Given the description of an element on the screen output the (x, y) to click on. 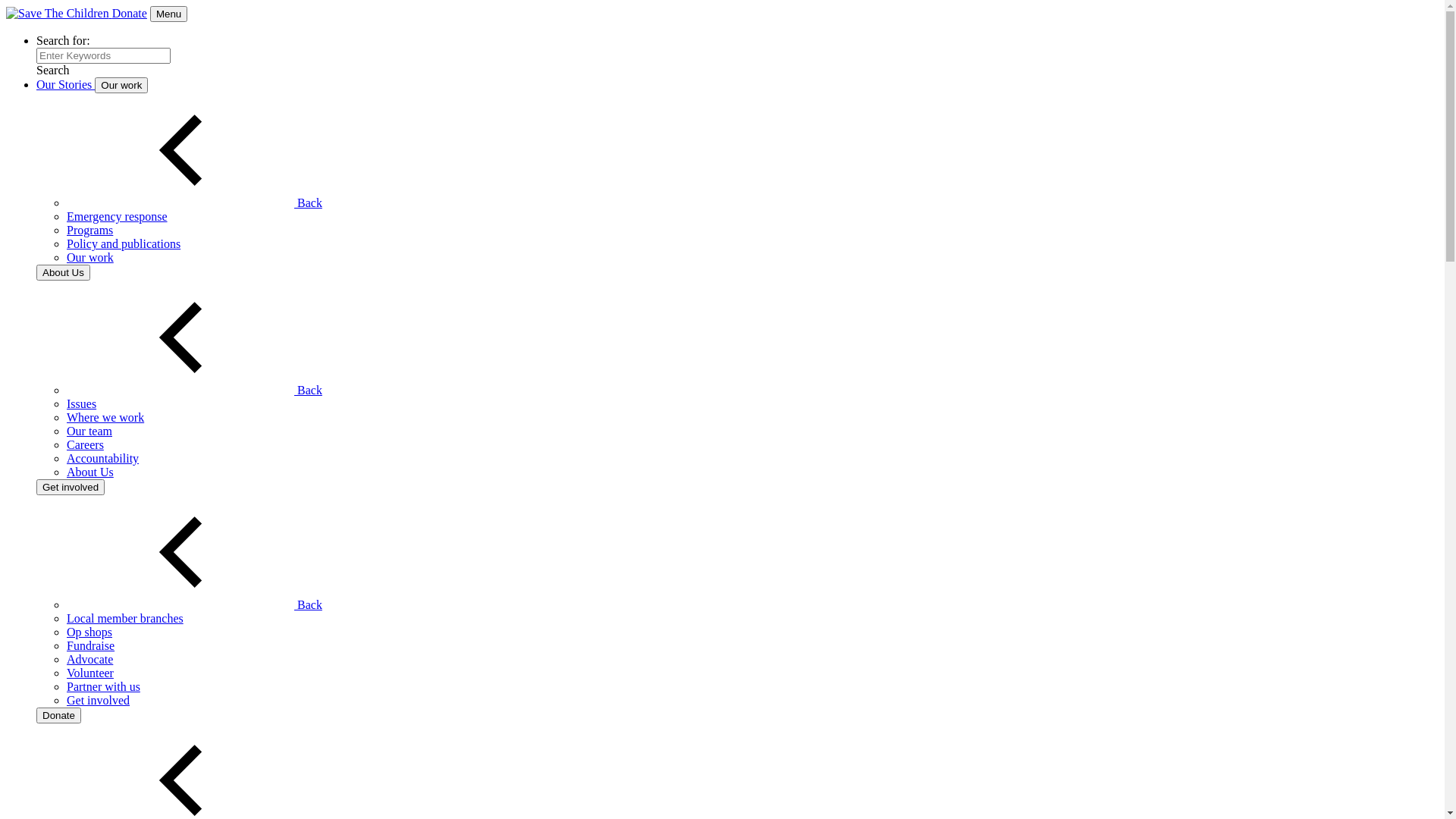
Fundraise Element type: text (90, 645)
Advocate Element type: text (89, 658)
Get involved Element type: text (97, 699)
Accountability Element type: text (102, 457)
Partner with us Element type: text (103, 686)
Where we work Element type: text (105, 417)
Policy and publications Element type: text (123, 243)
Programs Element type: text (89, 229)
Back Element type: text (194, 389)
Our team Element type: text (89, 430)
Careers Element type: text (84, 444)
Menu Element type: text (168, 13)
Donate Element type: text (58, 715)
About Us Element type: text (89, 471)
Local member branches Element type: text (124, 617)
Issues Element type: text (81, 403)
Back Element type: text (194, 202)
Volunteer Element type: text (89, 672)
Emergency response Element type: text (116, 216)
Our work Element type: text (120, 85)
Back Element type: text (194, 604)
Our Stories Element type: text (65, 84)
Op shops Element type: text (89, 631)
Donate Element type: text (129, 12)
Our work Element type: text (89, 257)
Get involved Element type: text (70, 487)
About Us Element type: text (63, 272)
